Given the description of an element on the screen output the (x, y) to click on. 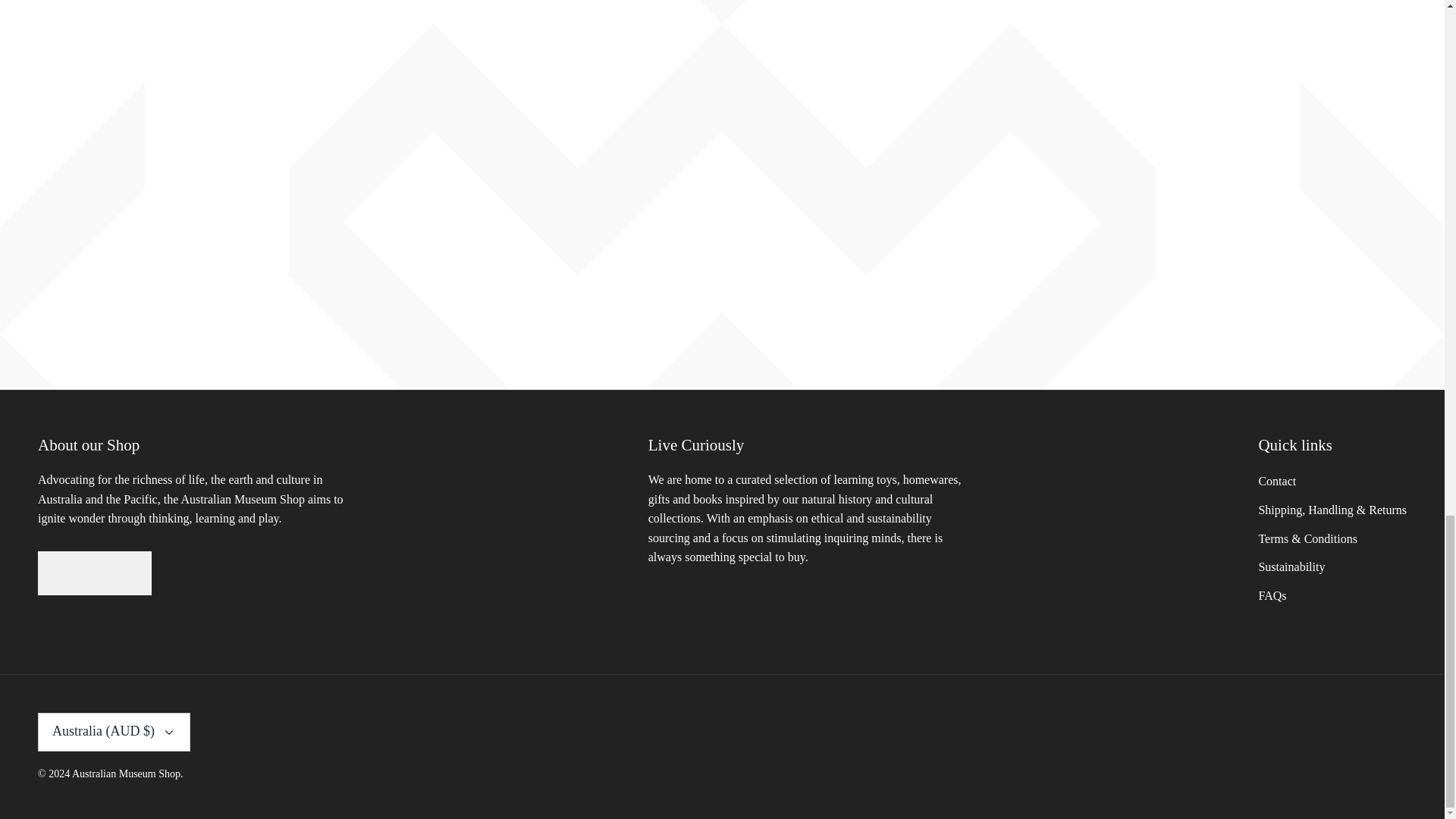
Down (168, 732)
